Given the description of an element on the screen output the (x, y) to click on. 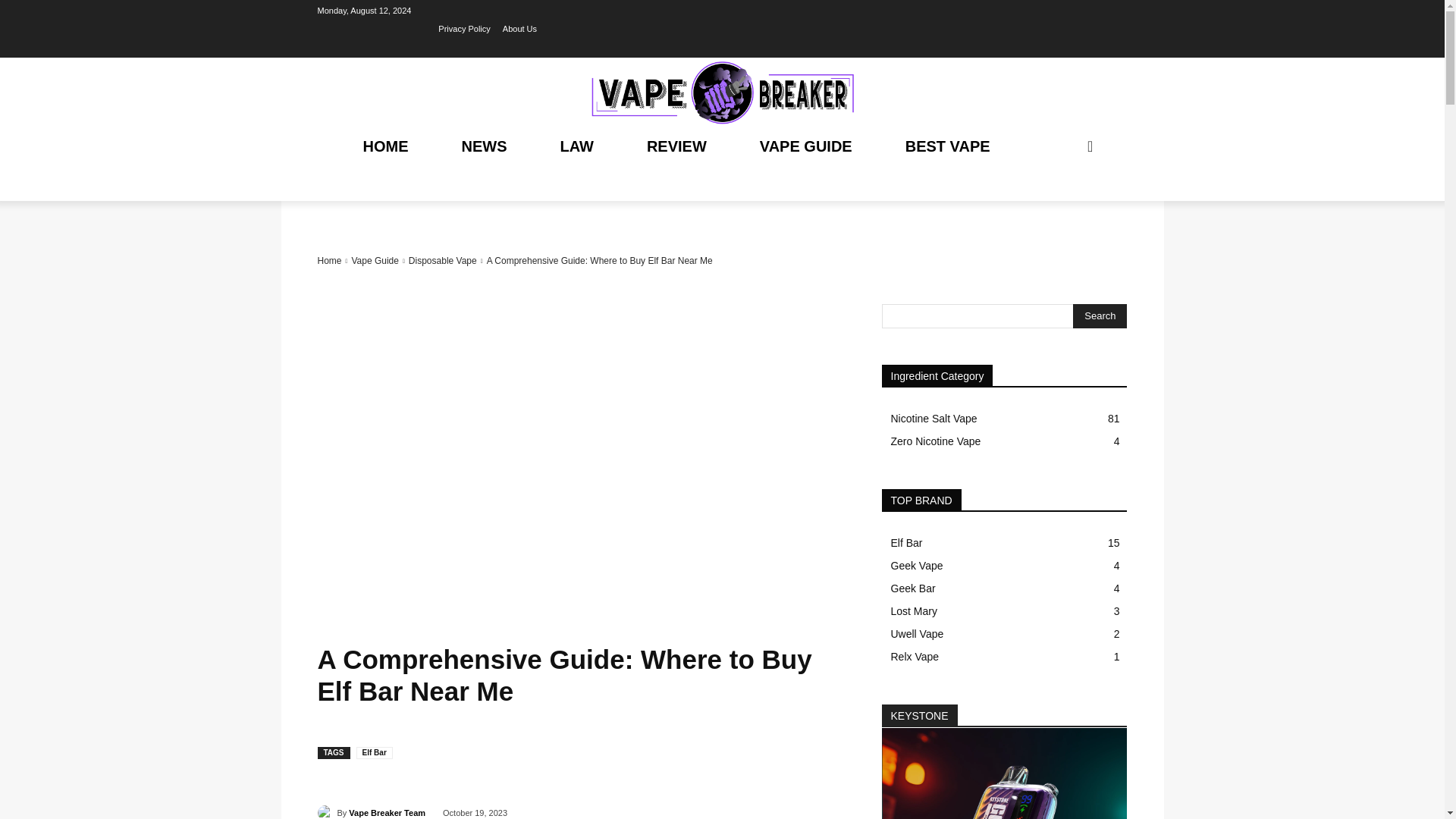
Vape Breaker (722, 92)
NEWS (482, 145)
About Us (519, 28)
Privacy Policy (463, 28)
HOME (384, 145)
Vape Breaker (721, 92)
